Given the description of an element on the screen output the (x, y) to click on. 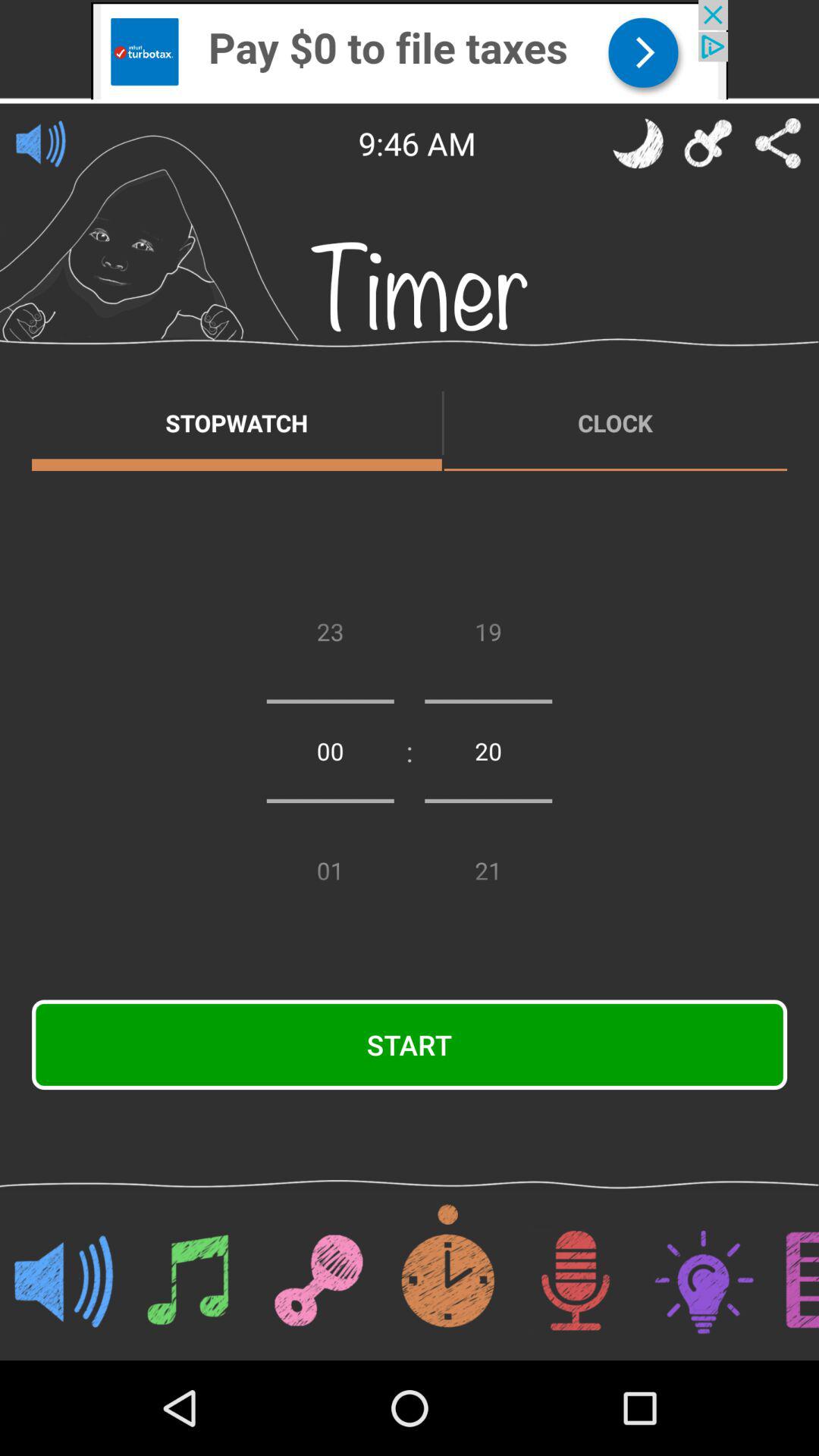
share button (778, 143)
